Given the description of an element on the screen output the (x, y) to click on. 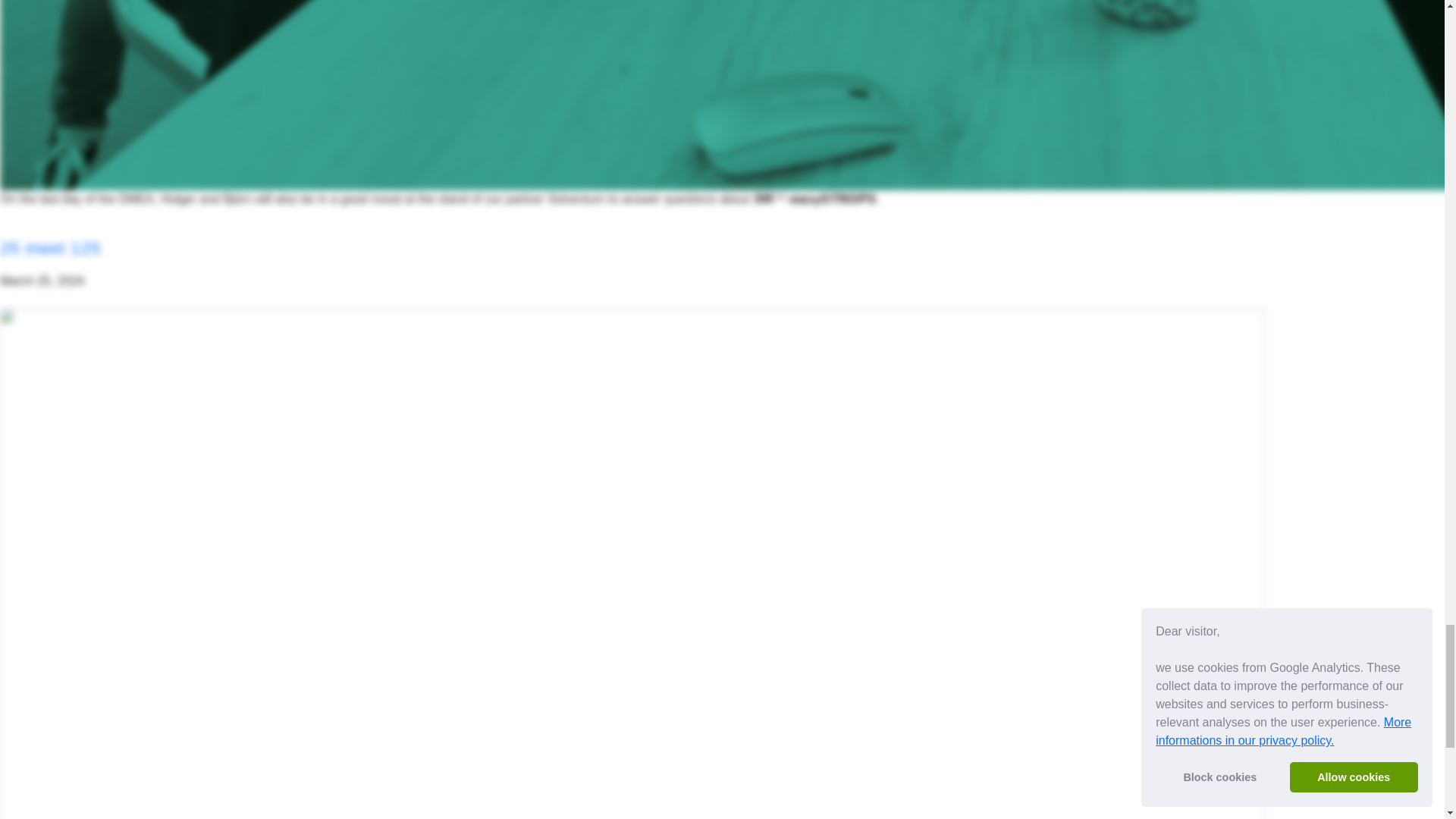
25 meet 125 (50, 248)
25 meet 125 (50, 248)
